Given the description of an element on the screen output the (x, y) to click on. 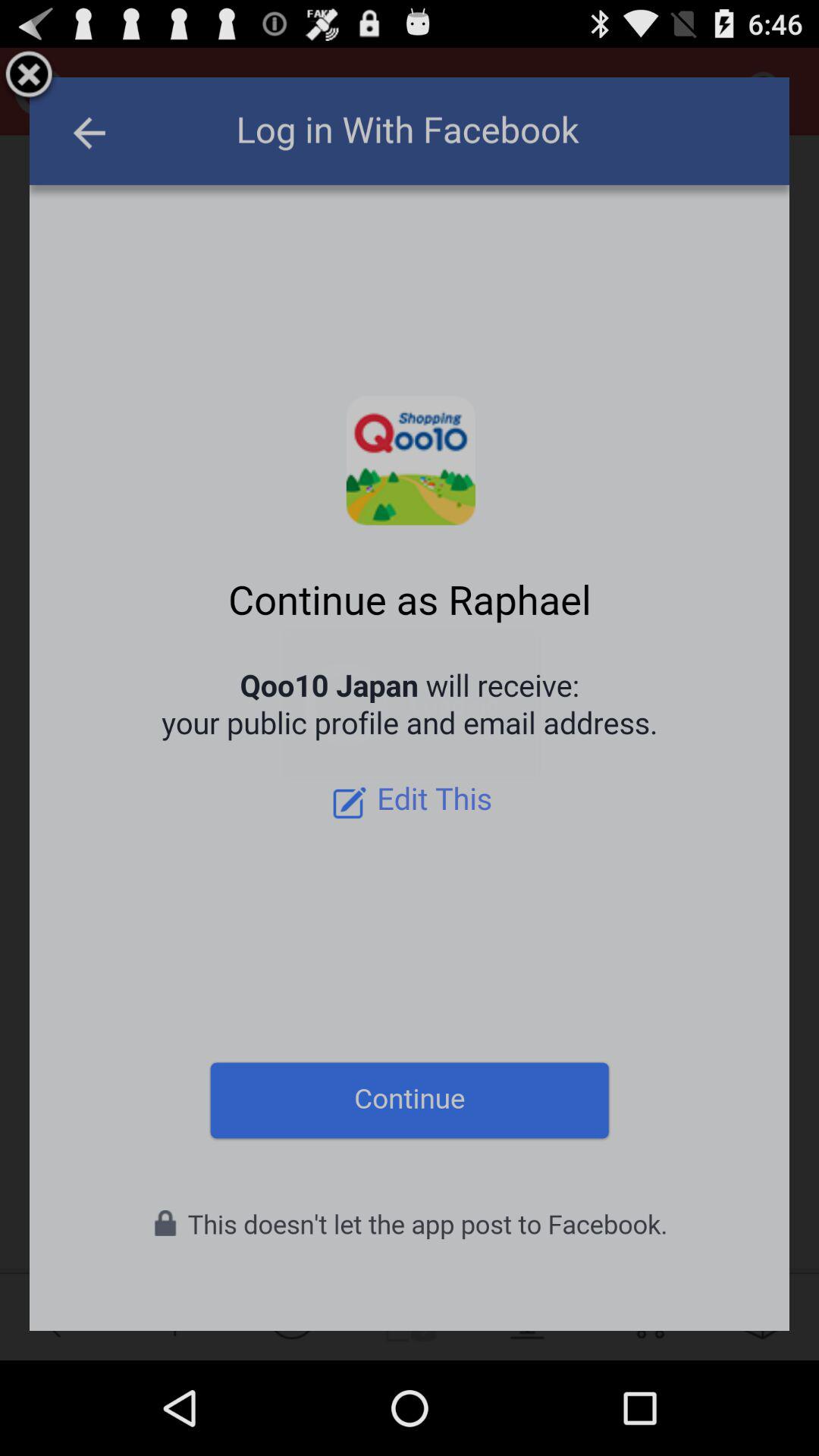
close window (29, 76)
